Given the description of an element on the screen output the (x, y) to click on. 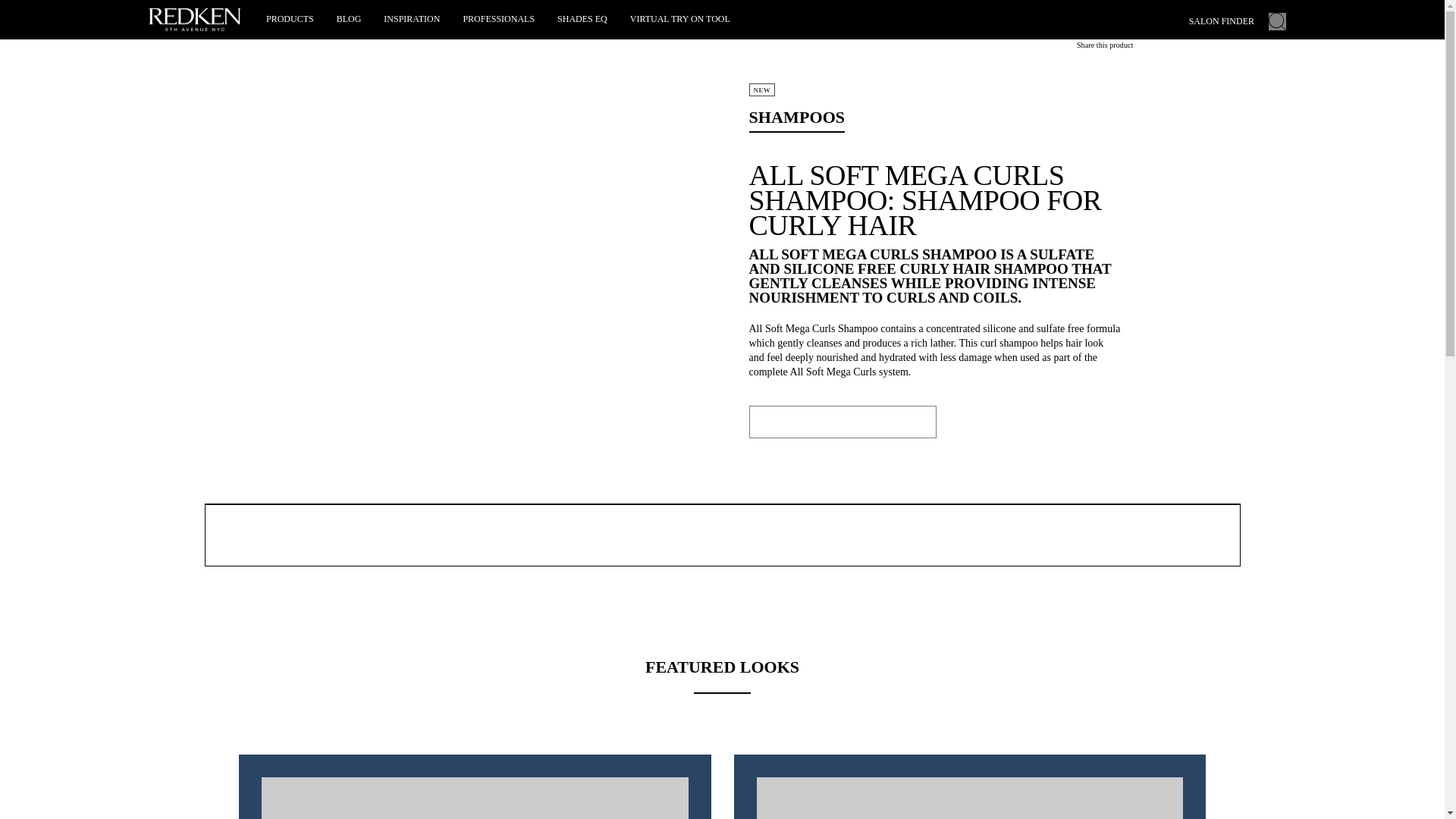
home (215, 14)
PRODUCTS (290, 19)
all soft mega curls (369, 14)
salon hair care products  (278, 14)
